Given the description of an element on the screen output the (x, y) to click on. 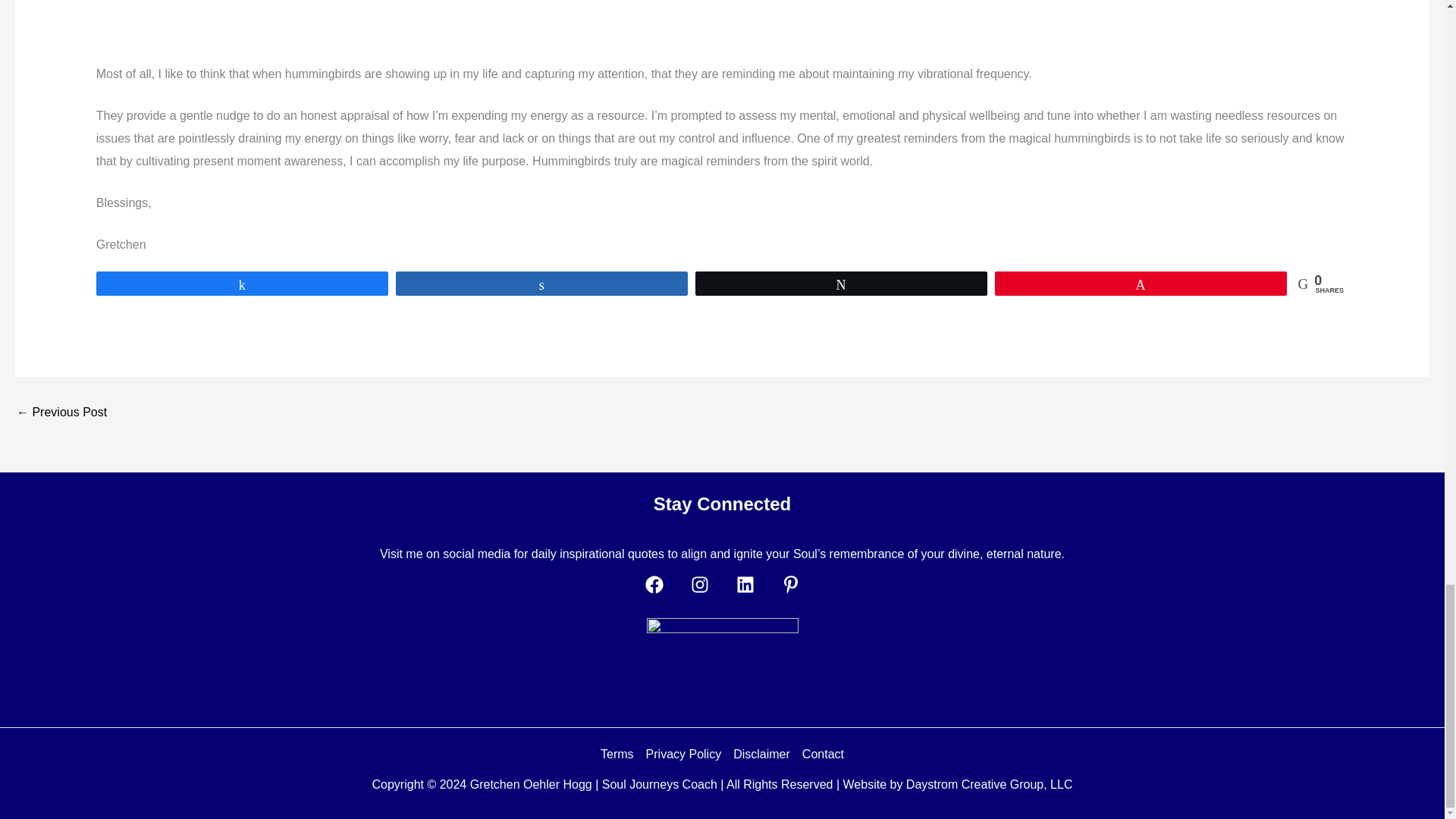
The Power of Creating a Mental Movie to Achieve Your Goals (61, 412)
